Given the description of an element on the screen output the (x, y) to click on. 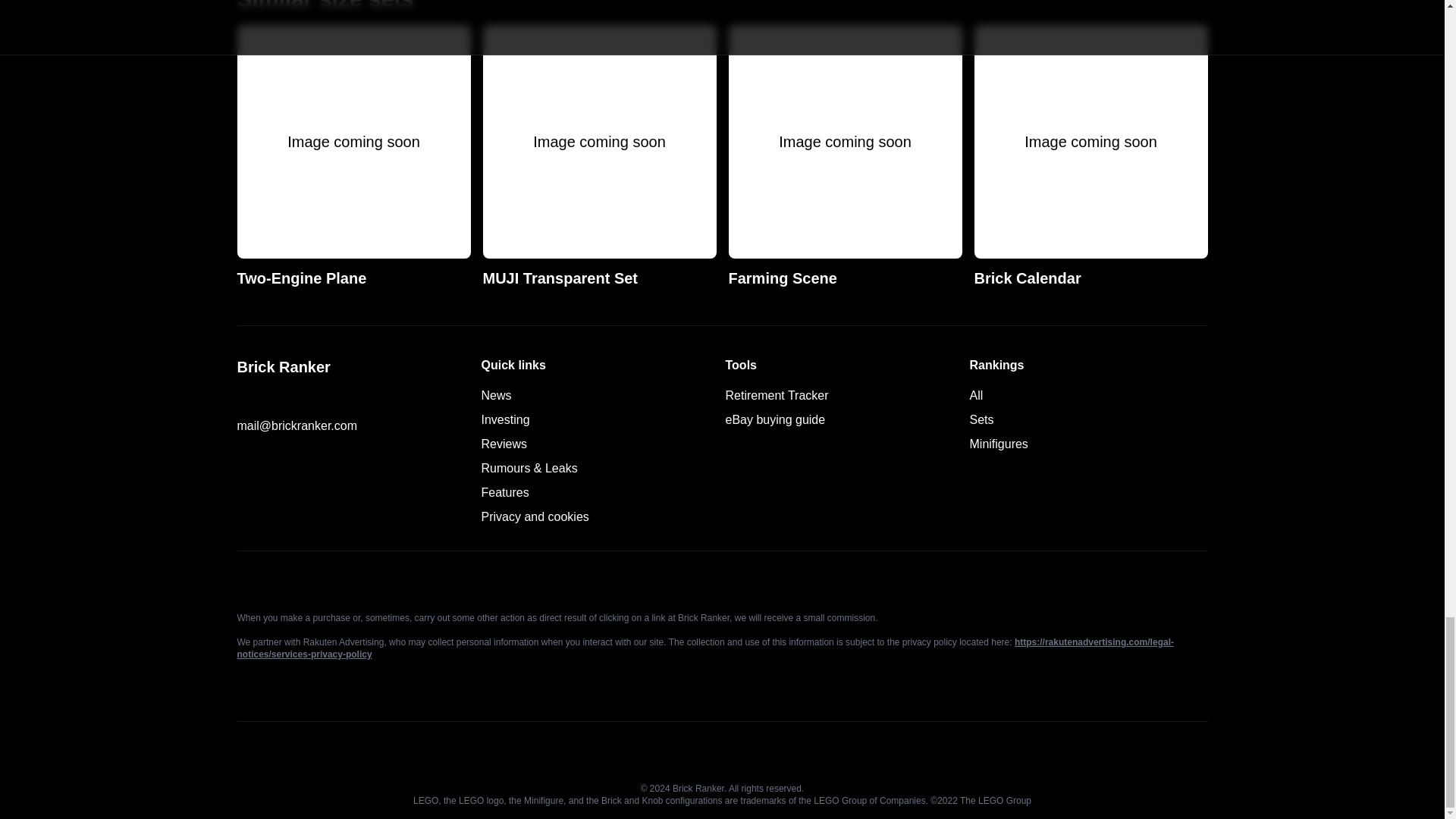
Reviews (502, 443)
View all Brick Ranker rumour and leak articles (528, 468)
Features (504, 492)
View all Brick Ranker investing articles (1090, 157)
Privacy and cookies (504, 419)
View all Brick Ranker reviews (534, 516)
View all Brick Ranker feature articles (502, 443)
View the top 100 most valuable LEGO minifigures (352, 157)
Brick Ranker (504, 492)
Sets (844, 157)
All (998, 443)
Investing (354, 366)
